Given the description of an element on the screen output the (x, y) to click on. 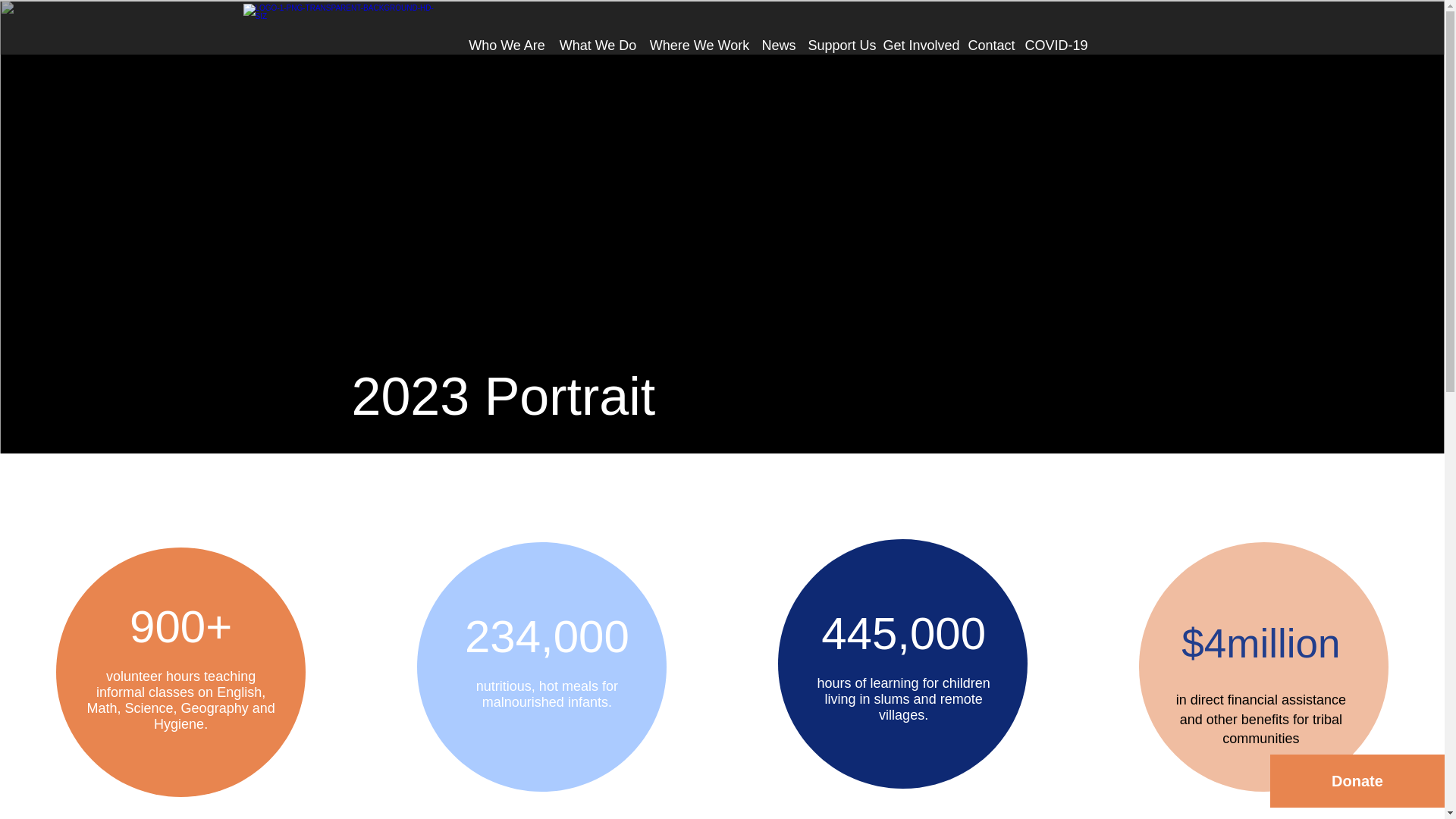
Contact (988, 39)
Support Us (839, 39)
COVID-19 (1054, 39)
News (778, 39)
What We Do (597, 39)
Where We Work (699, 39)
Who We Are (506, 39)
Get Involved (918, 39)
